Given the description of an element on the screen output the (x, y) to click on. 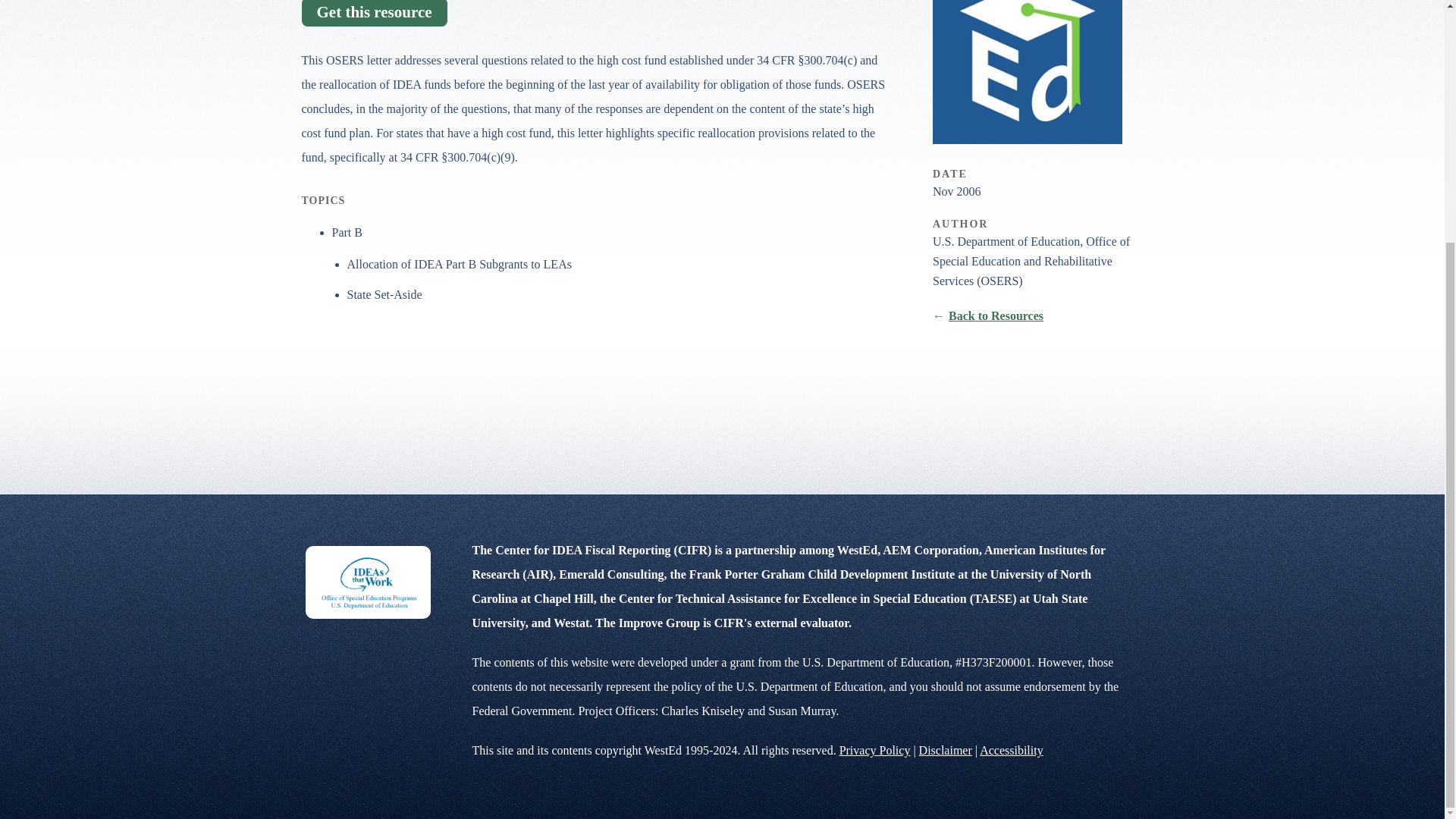
Disclaimer (945, 749)
Privacy Policy (875, 749)
Back to Resources (988, 315)
Accessibility (1011, 749)
Get this resource (373, 13)
